Given the description of an element on the screen output the (x, y) to click on. 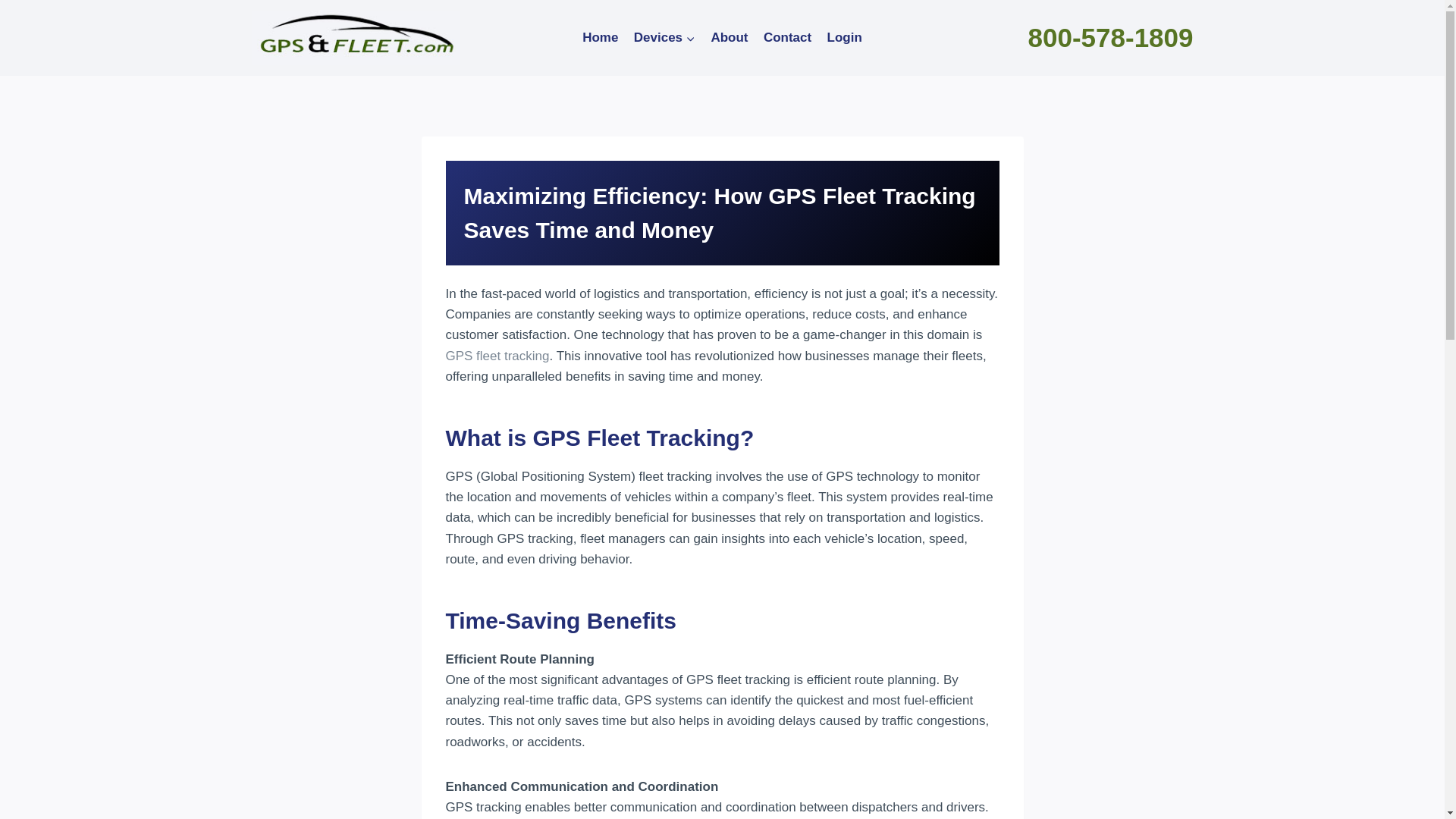
GPS fleet tracking (497, 355)
Login (843, 37)
800-578-1809 (1110, 37)
Devices (664, 37)
Home (600, 37)
Contact (787, 37)
About (729, 37)
